Given the description of an element on the screen output the (x, y) to click on. 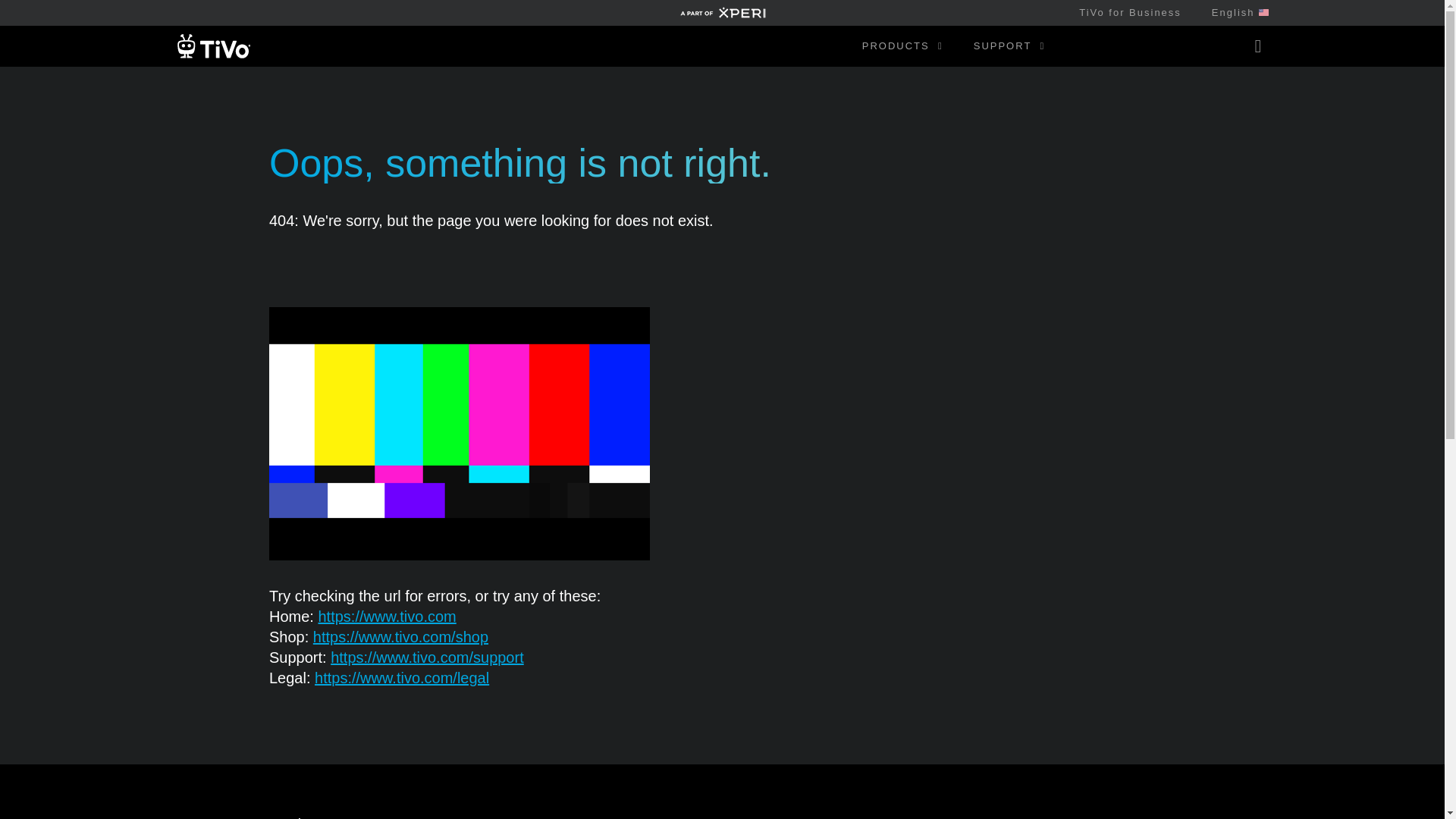
English (1232, 12)
PRODUCTS (902, 46)
SUPPORT (1009, 46)
TiVo for Business (1130, 12)
